Given the description of an element on the screen output the (x, y) to click on. 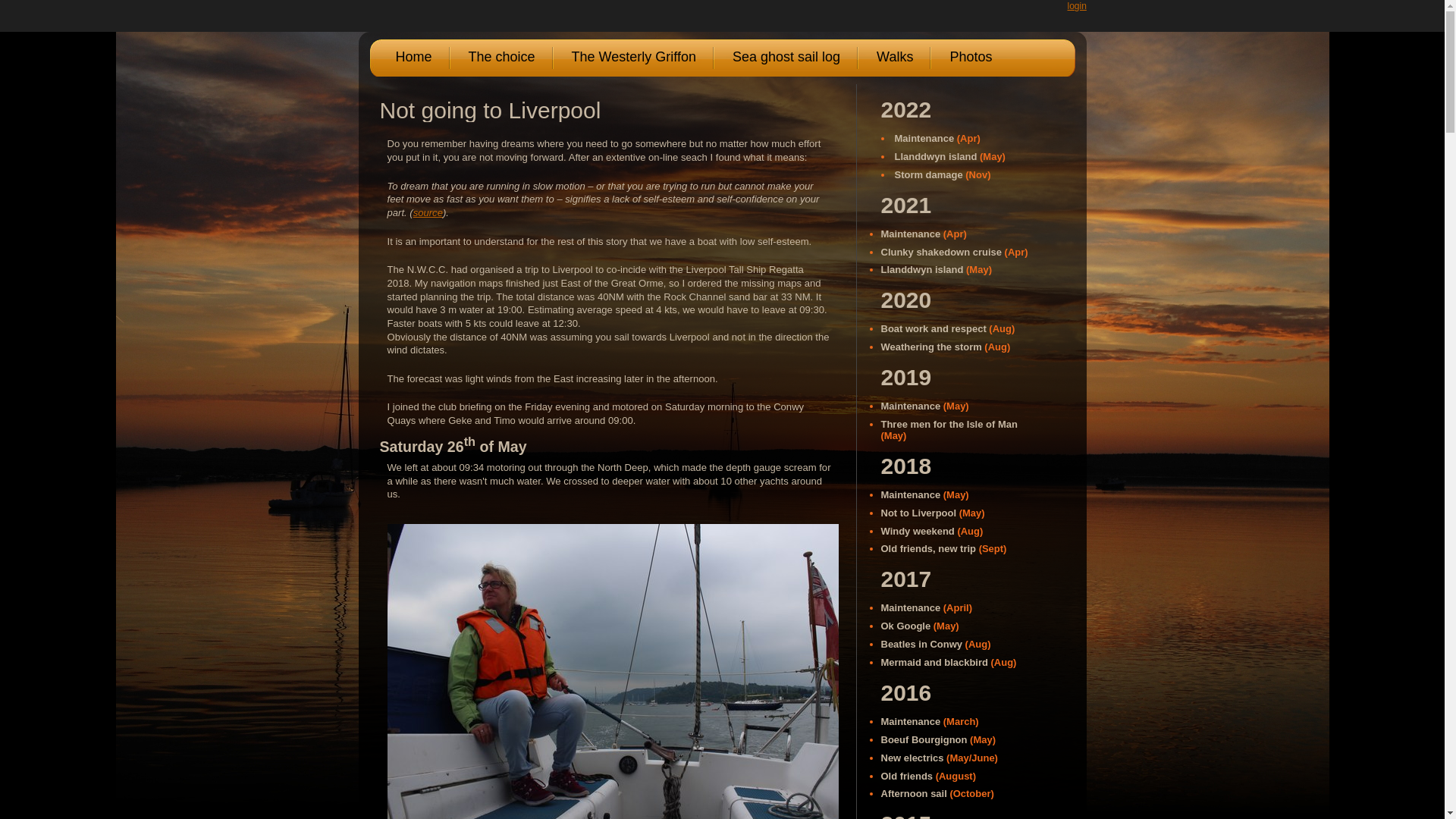
Beatles in Conwy (921, 644)
Maintenance (910, 721)
Not going to Liverpool (488, 109)
Walks (894, 57)
login (1076, 5)
Home (412, 57)
The choice (500, 57)
Storm damage (927, 174)
The Westerly Griffon (632, 57)
Afternoon sail (913, 793)
New electrics (911, 757)
Maintenance (910, 607)
Not to Liverpool (918, 512)
Old friends (906, 776)
login (1076, 5)
